Given the description of an element on the screen output the (x, y) to click on. 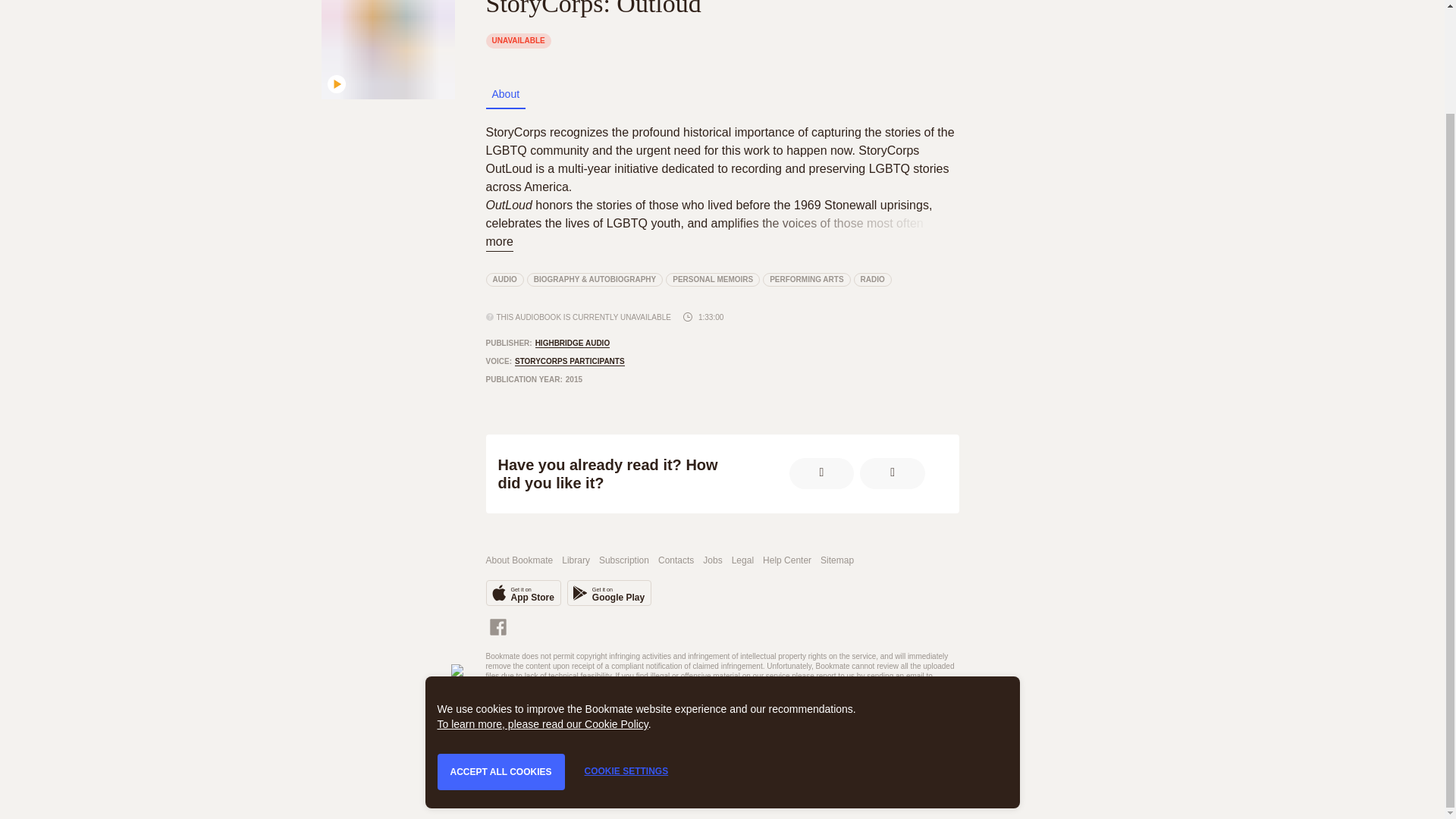
Contacts (676, 560)
Library (575, 560)
HIGHBRIDGE AUDIO (572, 343)
Sitemap (608, 592)
RADIO (522, 592)
STORYCORPS PARTICIPANTS (837, 560)
Help Center (872, 279)
